Given the description of an element on the screen output the (x, y) to click on. 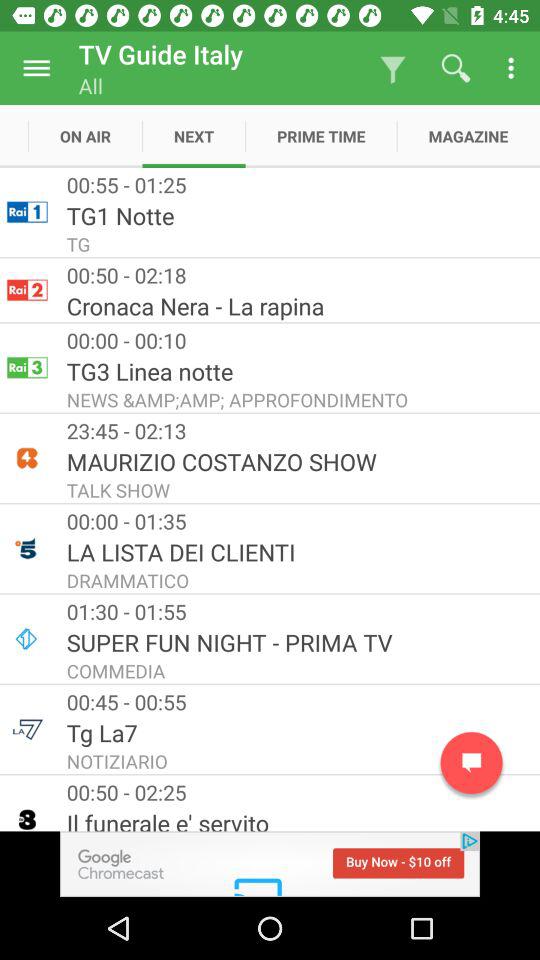
go to settings option (36, 68)
